Given the description of an element on the screen output the (x, y) to click on. 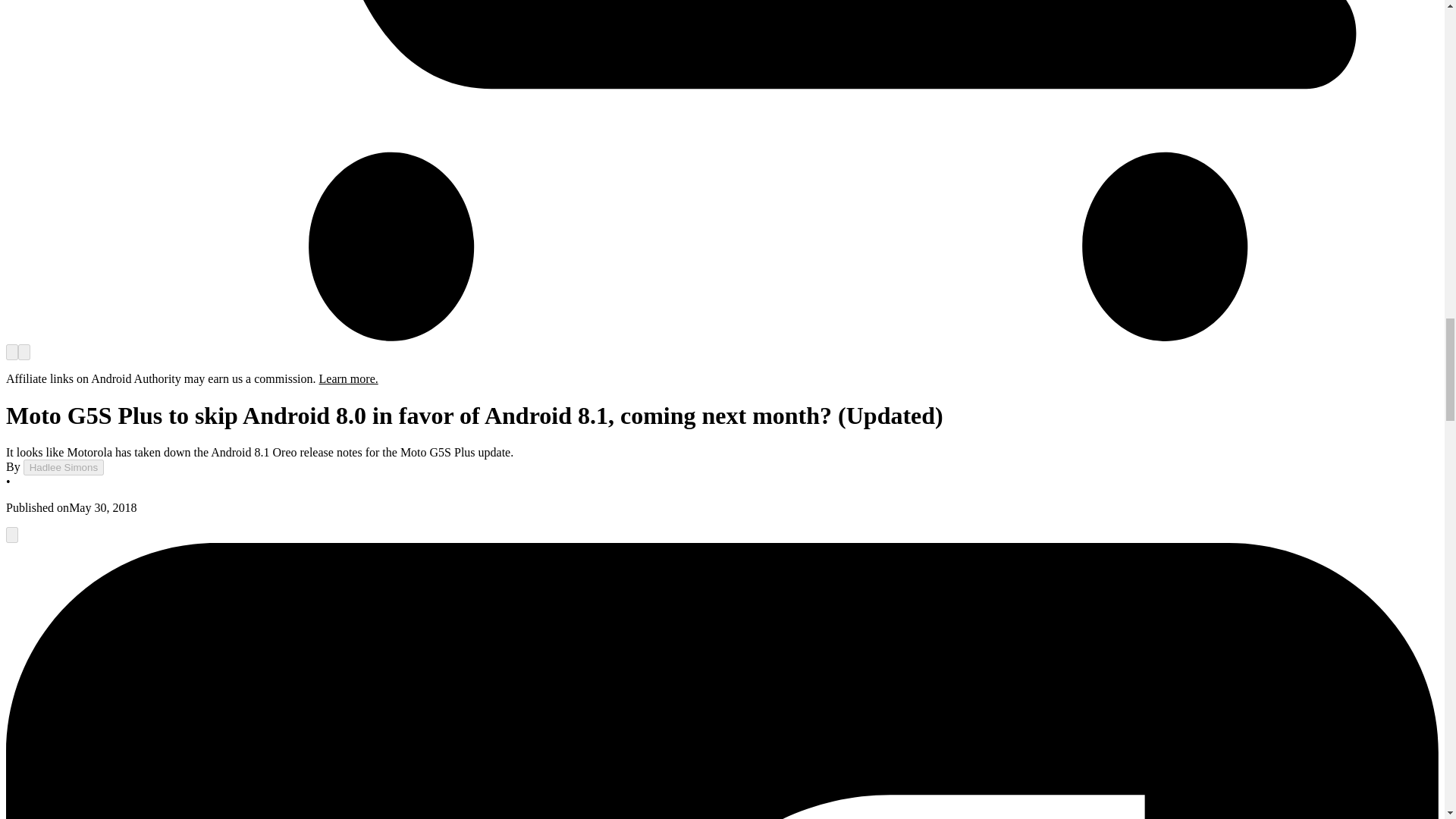
Learn more. (348, 378)
Hadlee Simons (63, 467)
